Given the description of an element on the screen output the (x, y) to click on. 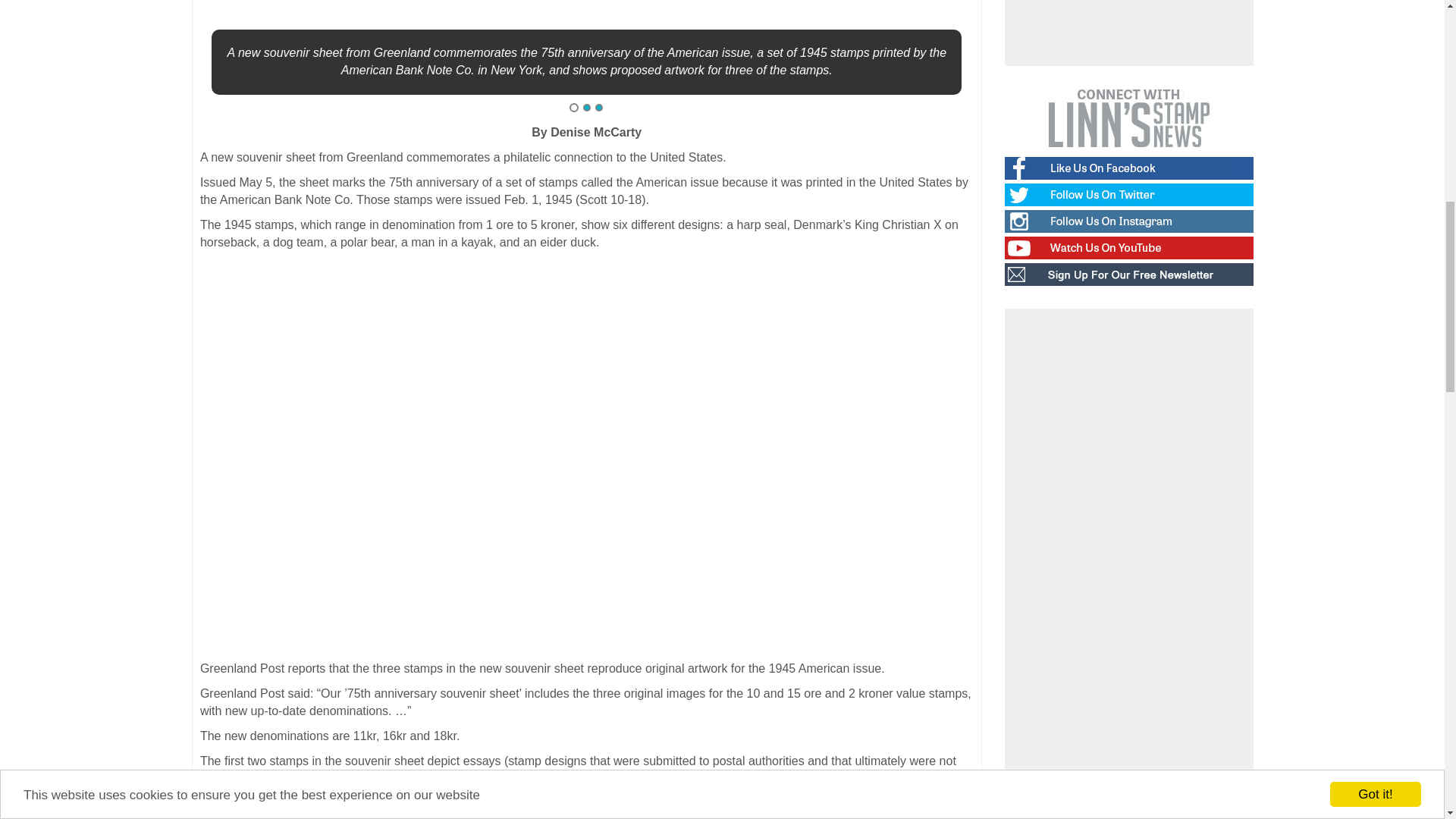
3rd party ad content (1128, 28)
Got it! (1375, 38)
